Given the description of an element on the screen output the (x, y) to click on. 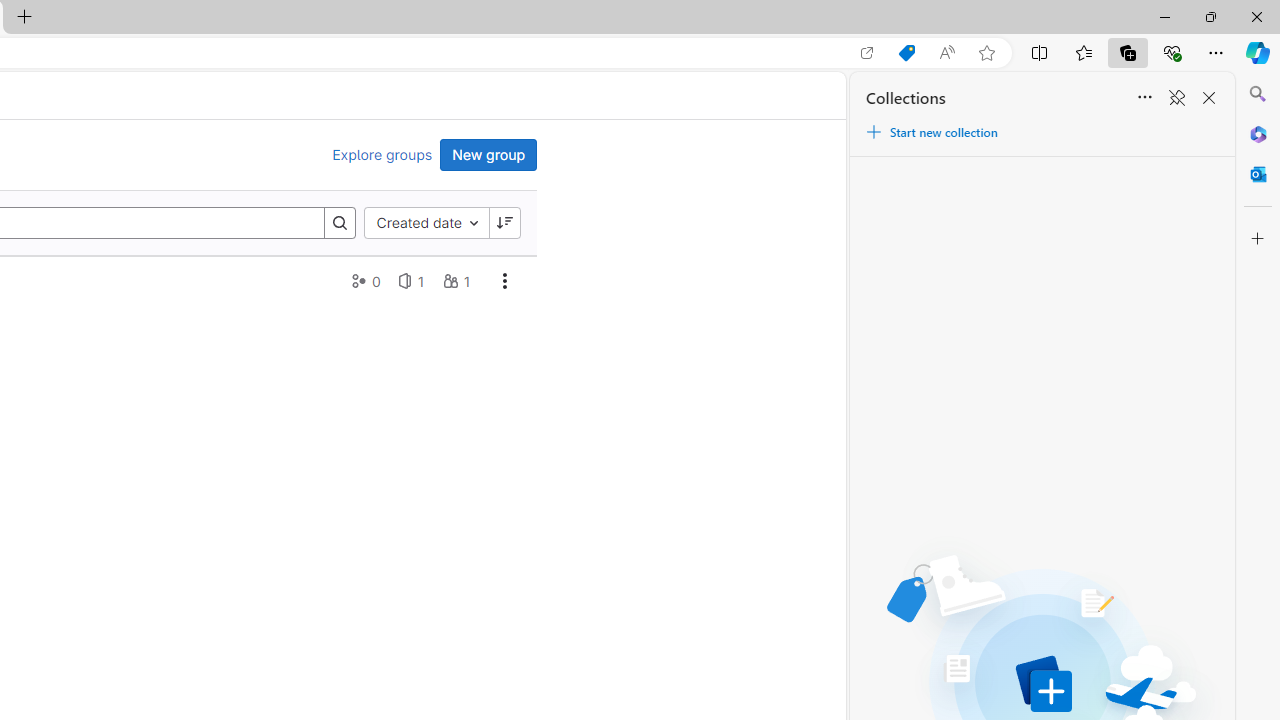
AutomationID: dropdown-toggle-btn-41 (504, 280)
New group (488, 154)
Open in app (867, 53)
Start new collection (931, 132)
Unpin Collections (1176, 98)
